Given the description of an element on the screen output the (x, y) to click on. 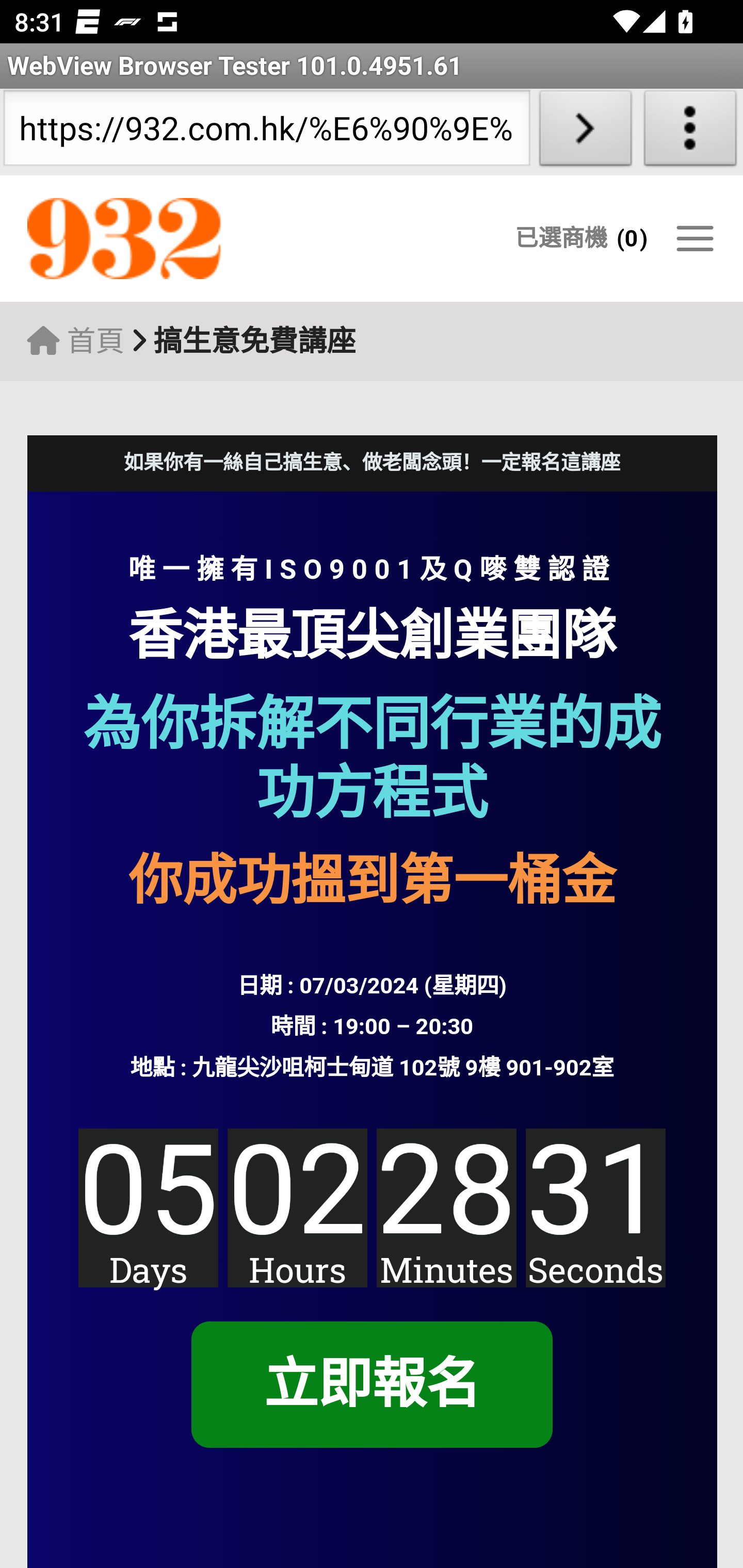
Load URL (585, 132)
About WebView (690, 132)
已選商機 ( 0 ) 已選商機 ( 0 ) (580, 237)
Menu  (694, 237)
932香港生意轉讓平台 (207, 238)
 首頁   首頁 (75, 341)
立即報名 (370, 1385)
